Given the description of an element on the screen output the (x, y) to click on. 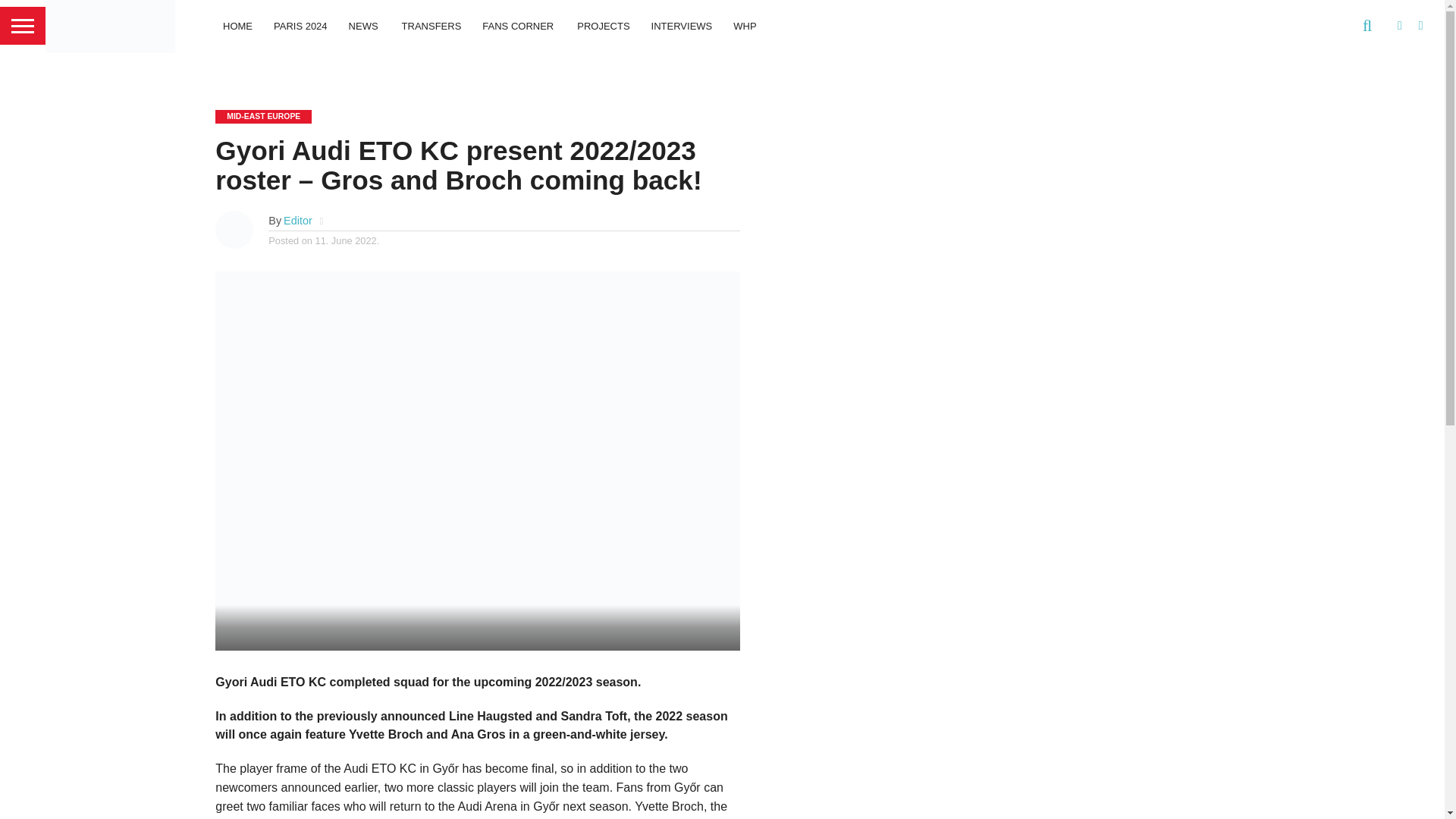
PARIS 2024 (300, 25)
HOME (237, 25)
Posts by Editor (298, 220)
NEWS (364, 25)
